Given the description of an element on the screen output the (x, y) to click on. 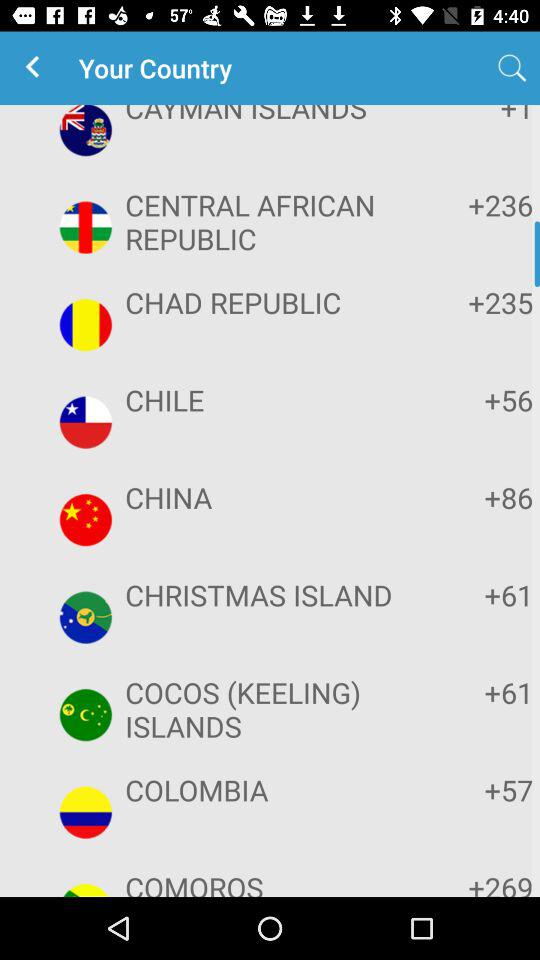
turn on the chad republic icon (267, 302)
